Given the description of an element on the screen output the (x, y) to click on. 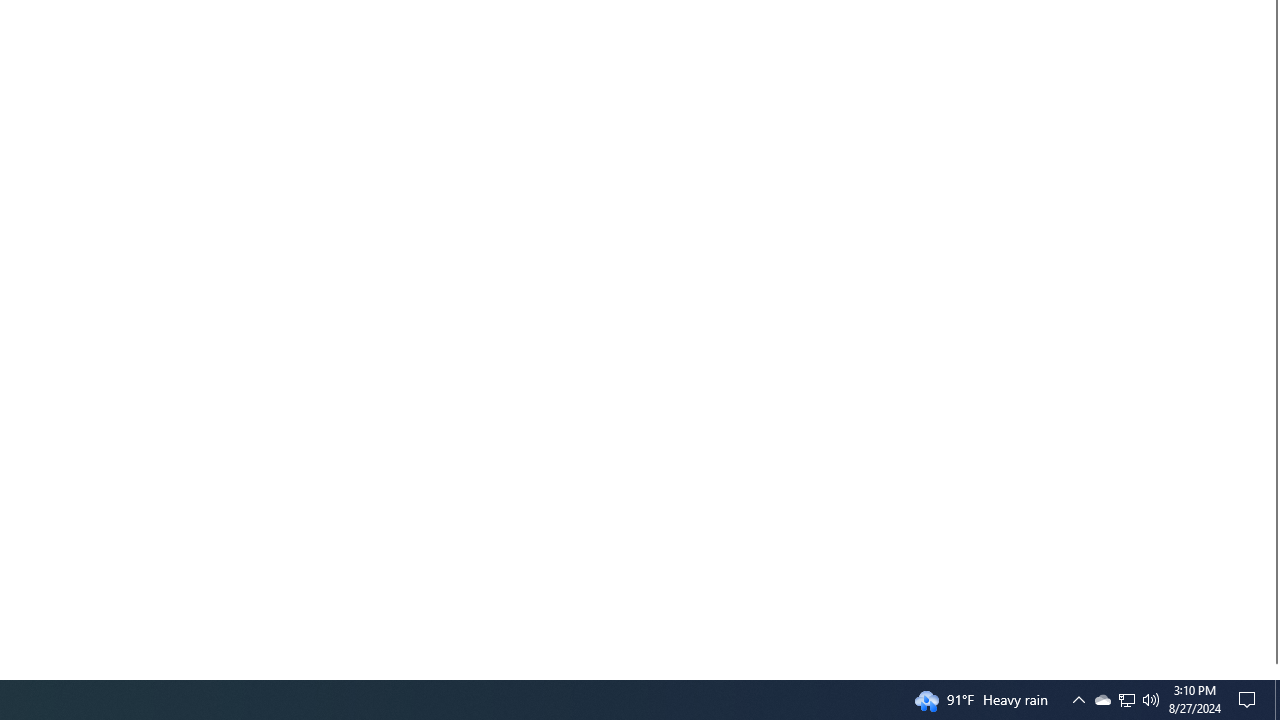
Vertical Small Increase (1272, 671)
Notification Chevron (1078, 699)
Show desktop (1277, 699)
User Promoted Notification Area (1126, 699)
Action Center, No new notifications (1102, 699)
Q2790: 100% (1126, 699)
